Given the description of an element on the screen output the (x, y) to click on. 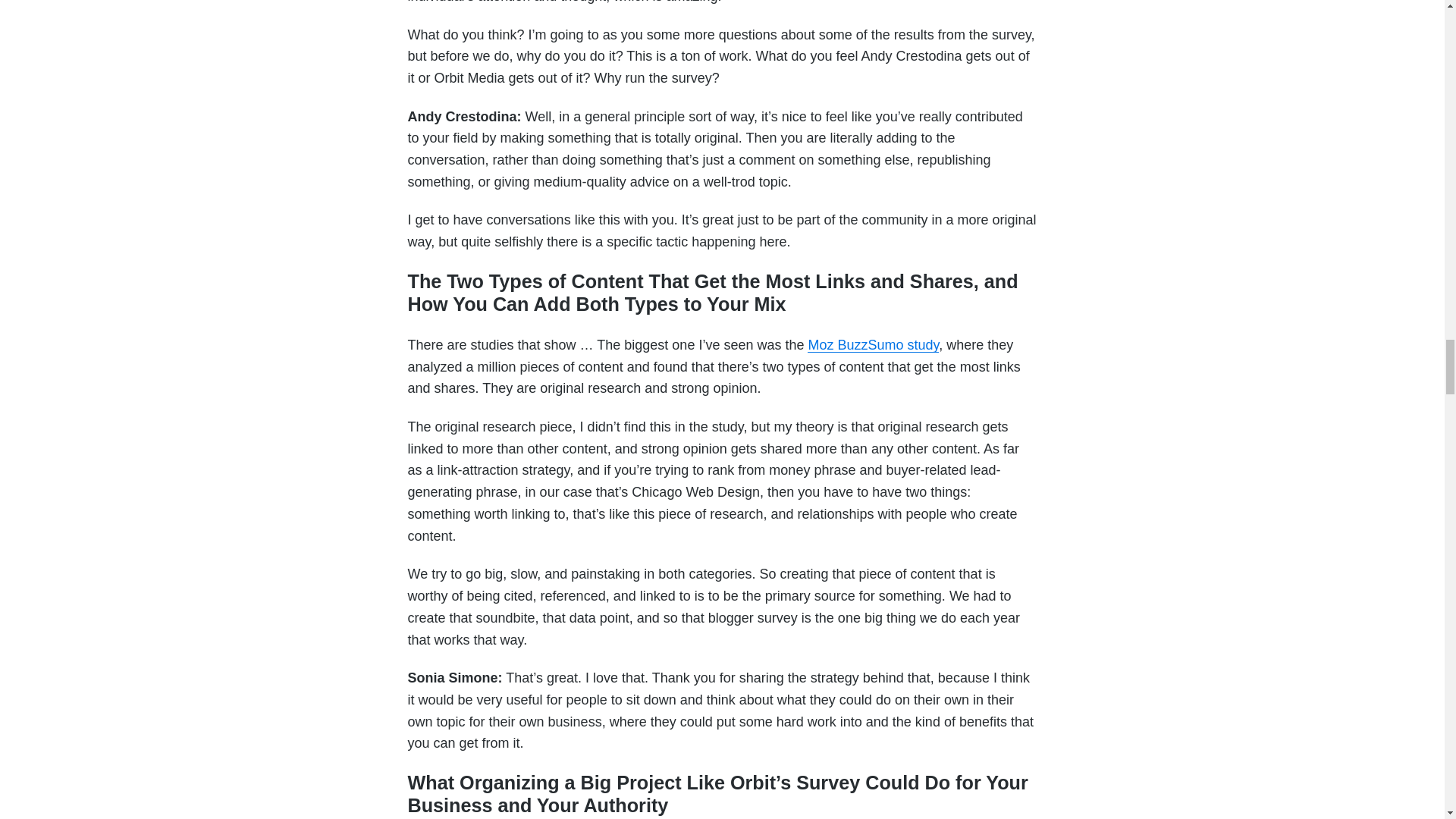
Moz BuzzSumo study (873, 344)
